Given the description of an element on the screen output the (x, y) to click on. 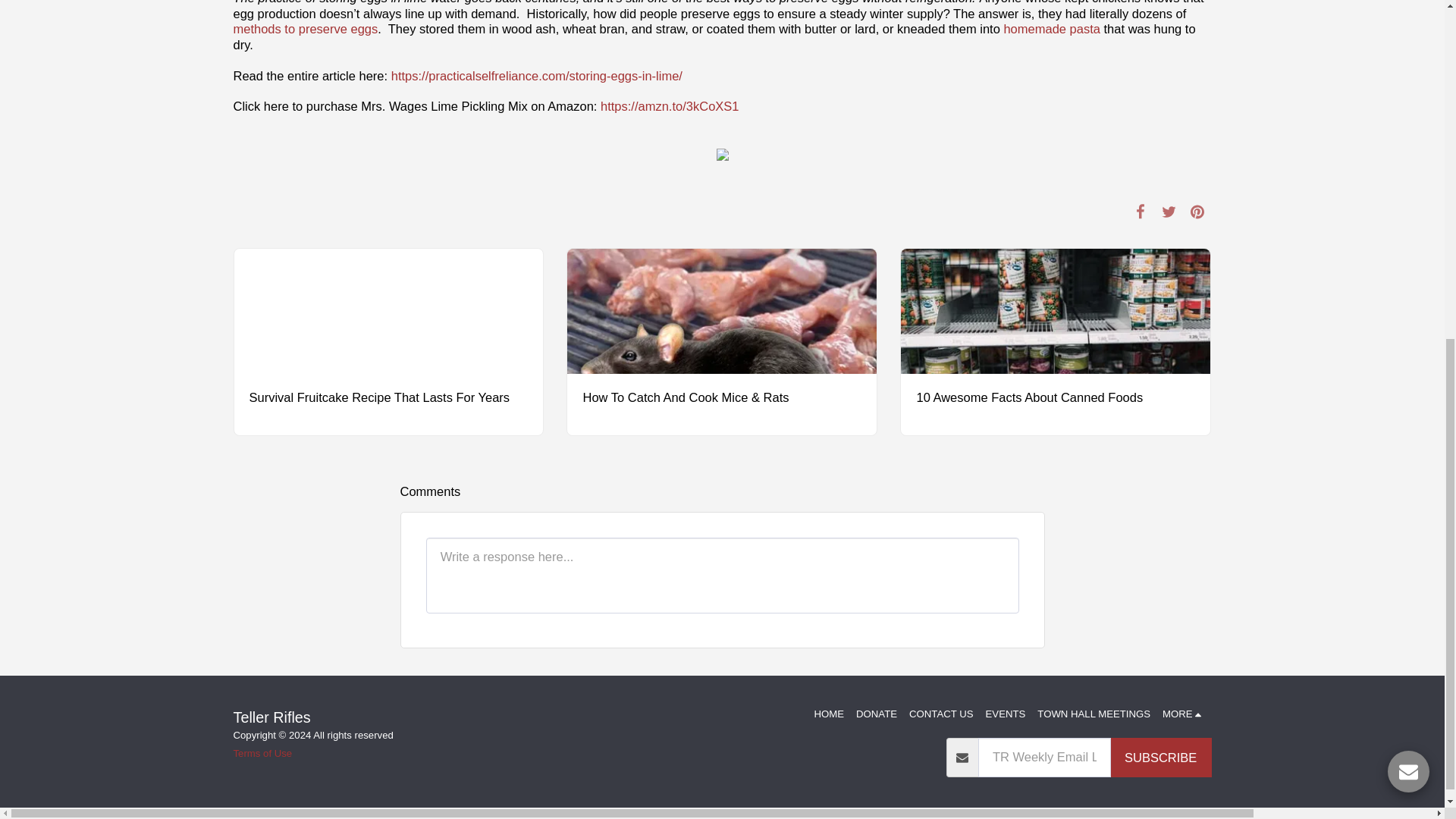
Share on Facebook (1139, 210)
Pin it (1196, 210)
Tweet (1168, 210)
